Given the description of an element on the screen output the (x, y) to click on. 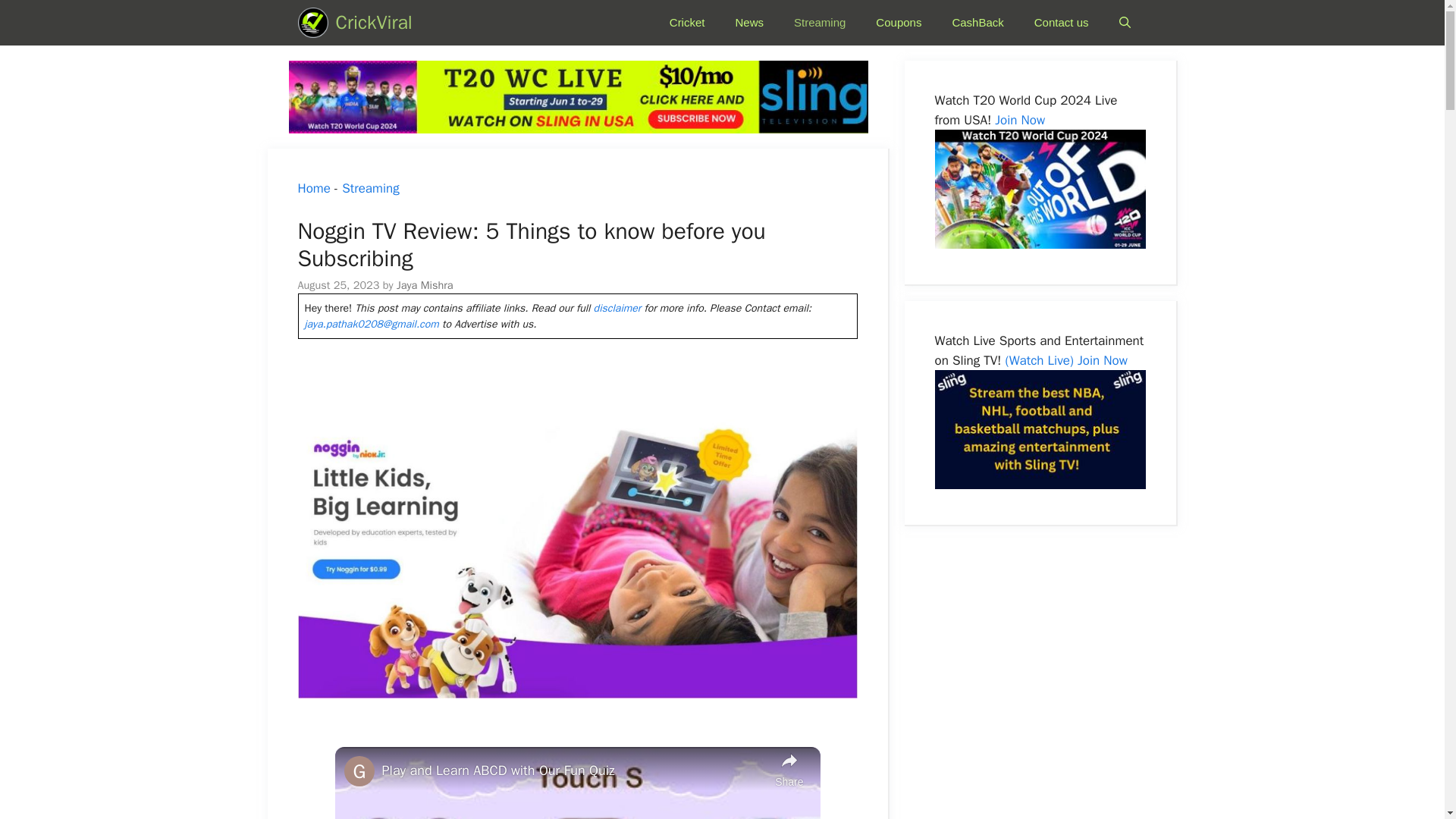
Play and Learn ABCD with Our Fun Quiz (574, 770)
Coupons (898, 22)
Jaya Mishra (424, 284)
disclaimer (618, 308)
CrickViral (373, 22)
Contact us (1061, 22)
Streaming (370, 188)
Home (313, 188)
Cricket (686, 22)
Streaming (819, 22)
News (748, 22)
CashBack (976, 22)
View all posts by Jaya Mishra (424, 284)
